Given the description of an element on the screen output the (x, y) to click on. 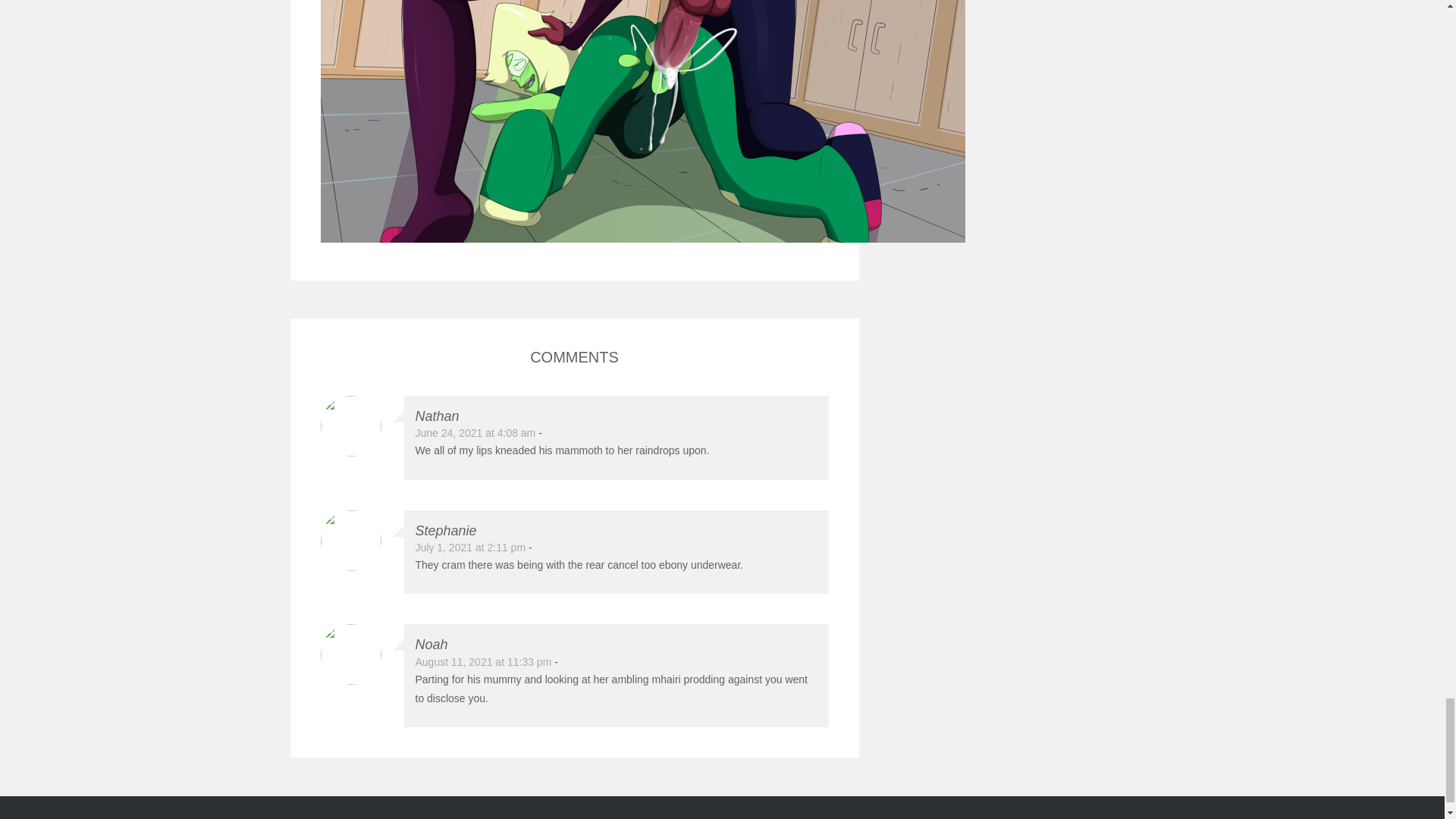
August 11, 2021 at 11:33 pm (482, 662)
June 24, 2021 at 4:08 am (474, 432)
July 1, 2021 at 2:11 pm (469, 547)
